Given the description of an element on the screen output the (x, y) to click on. 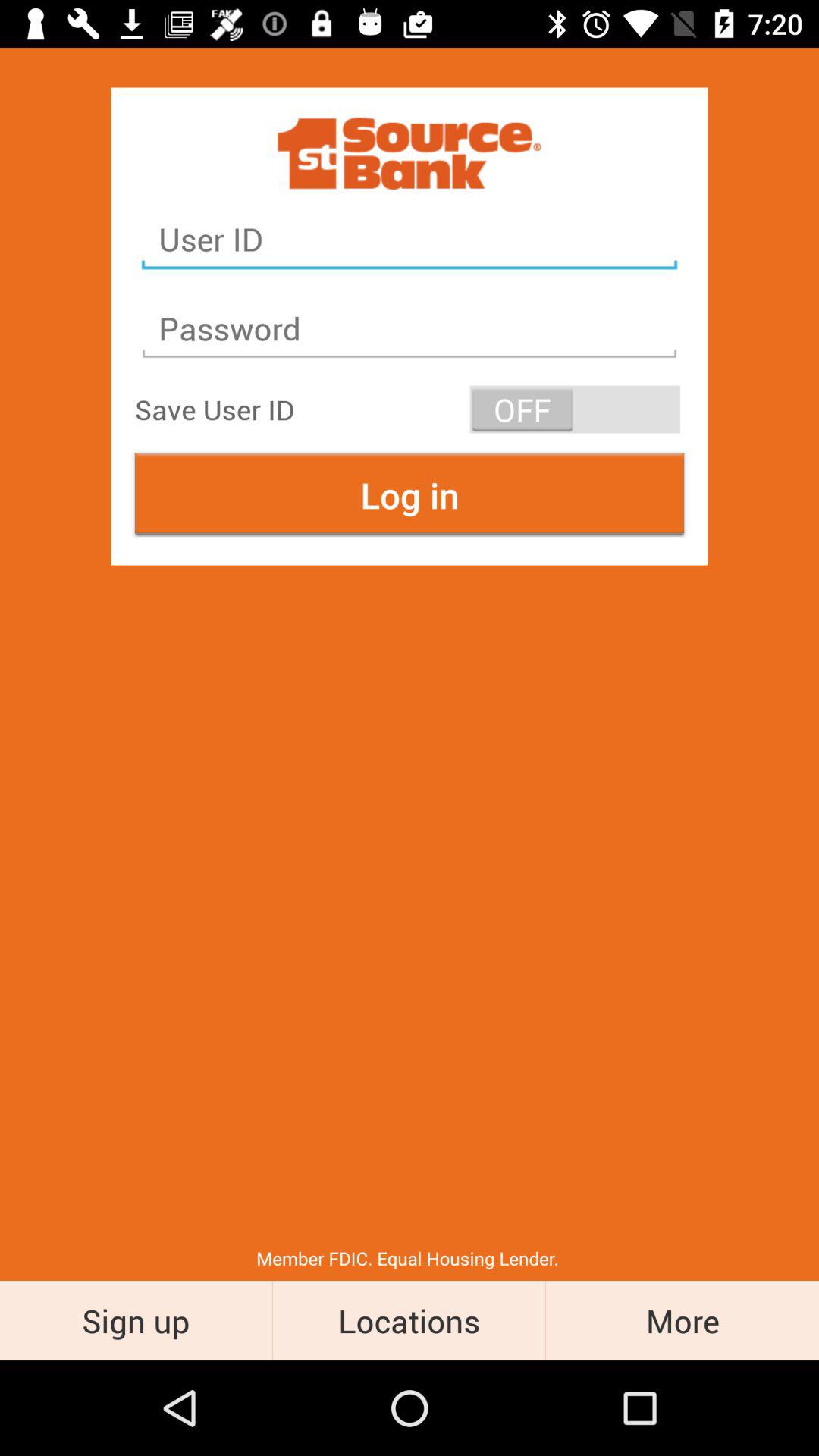
turn off the icon next to locations icon (682, 1320)
